Given the description of an element on the screen output the (x, y) to click on. 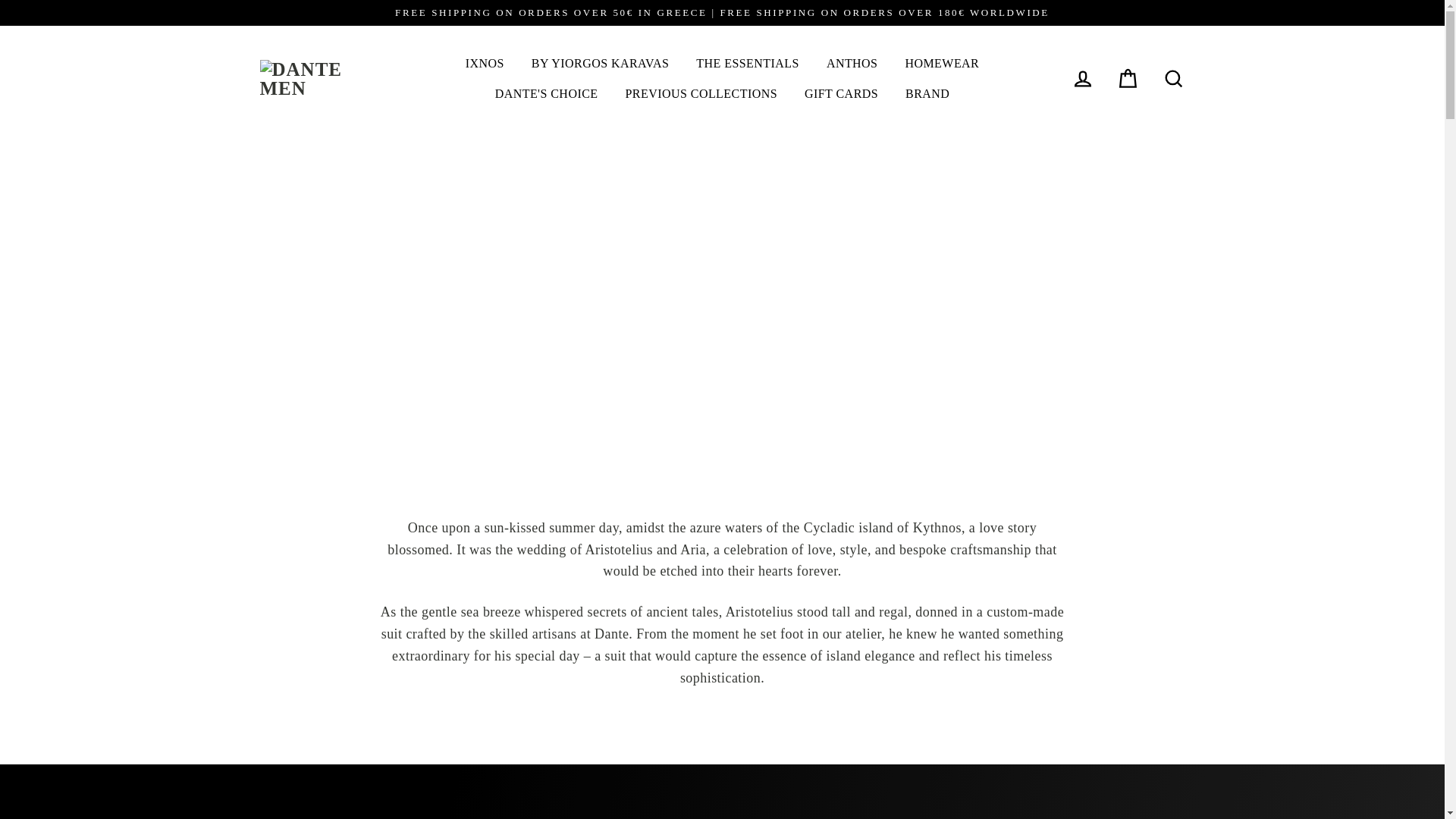
IXNOS (484, 63)
